Given the description of an element on the screen output the (x, y) to click on. 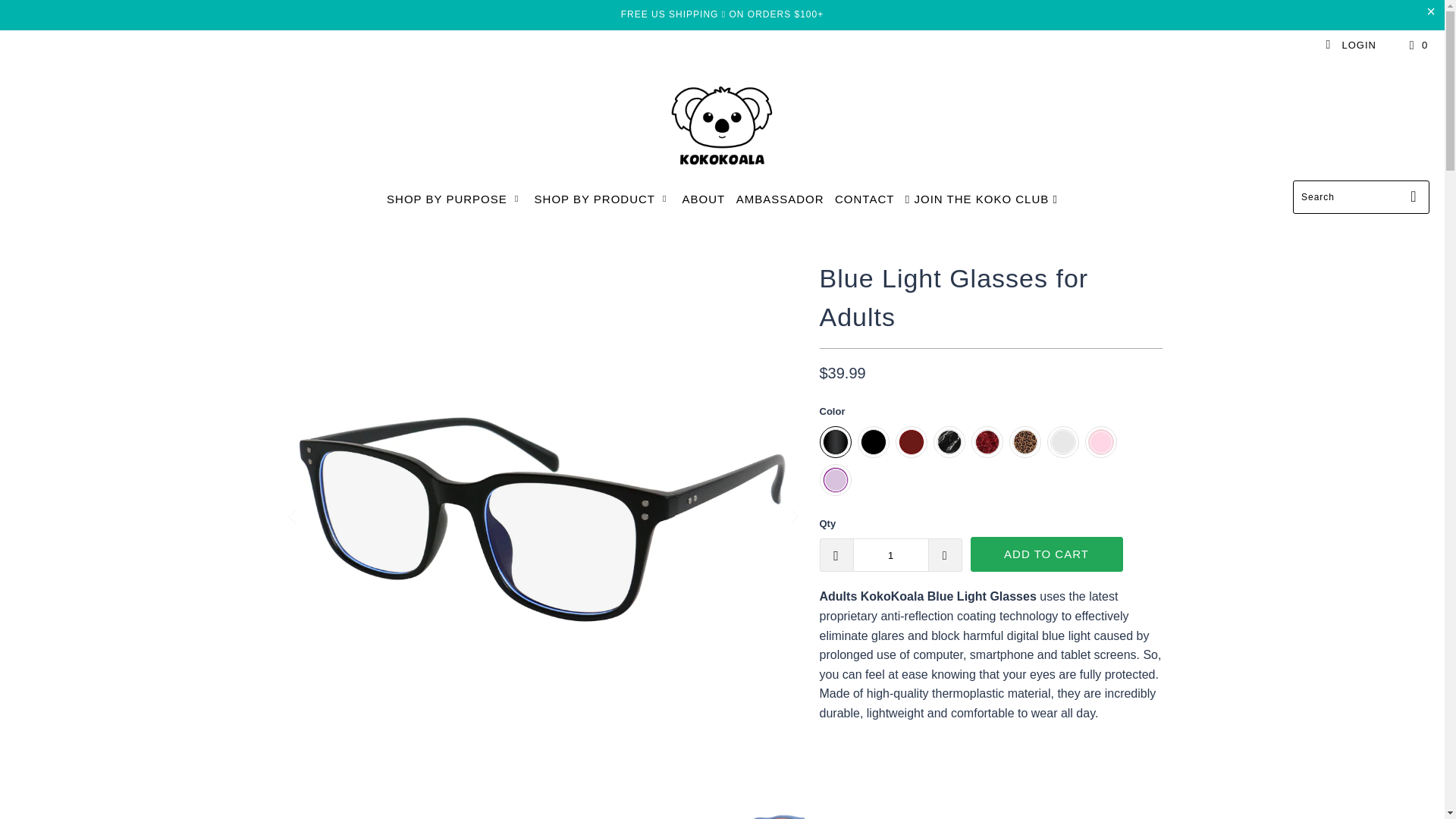
KokoKoala (721, 123)
My Account  (1350, 45)
1 (889, 554)
